Given the description of an element on the screen output the (x, y) to click on. 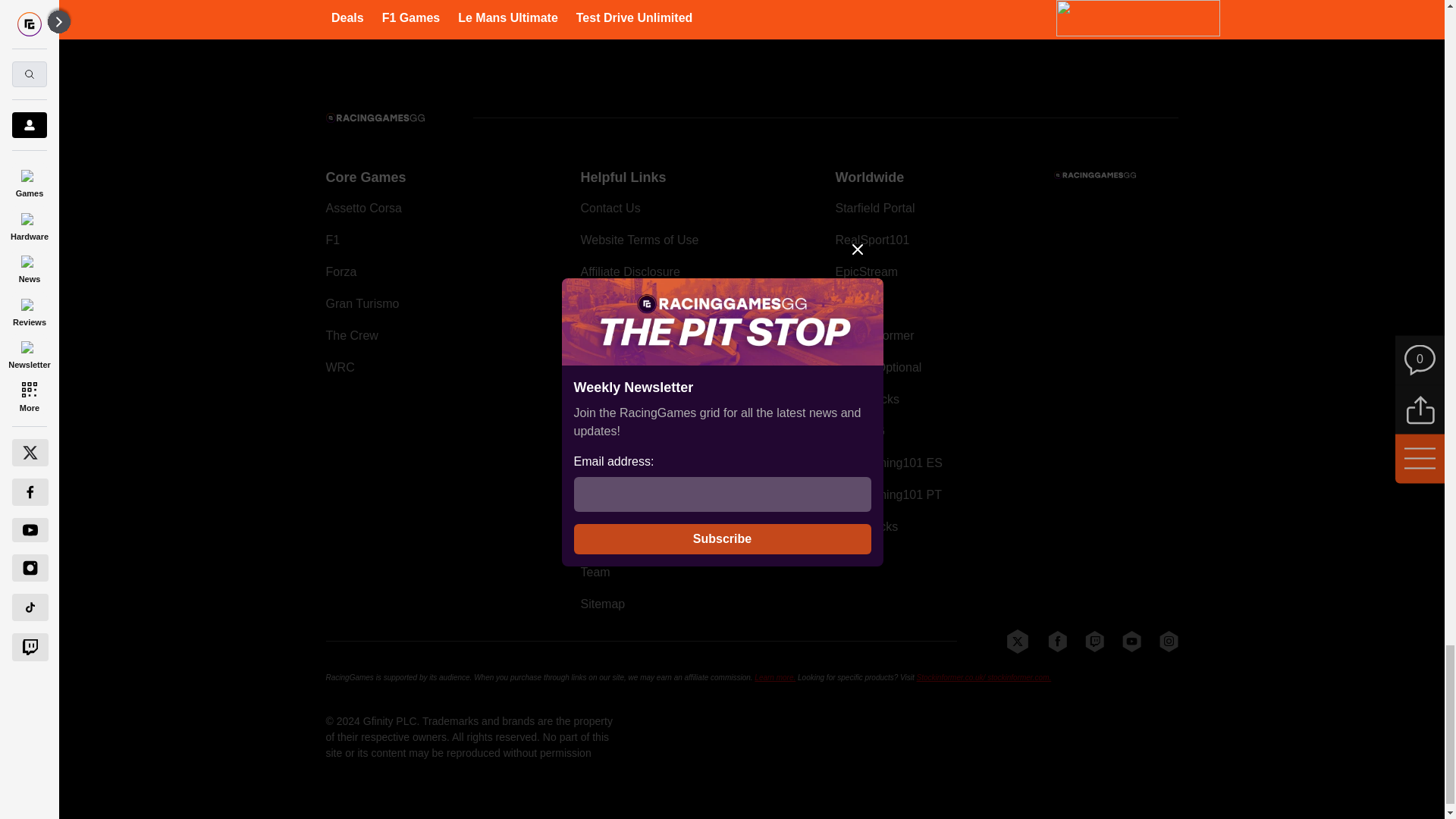
Latest News (1063, 13)
